Given the description of an element on the screen output the (x, y) to click on. 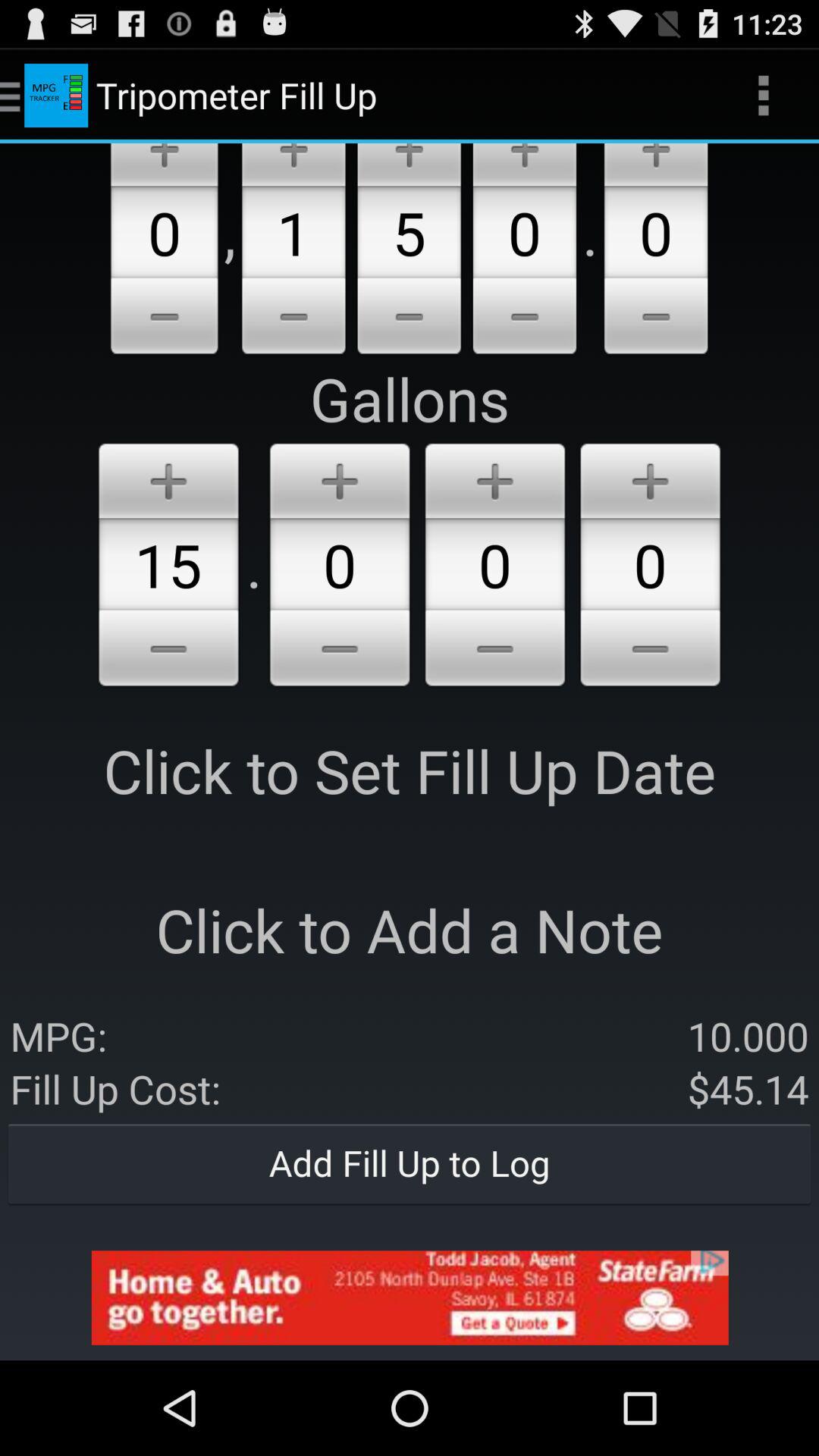
gallons fill date (339, 478)
